Given the description of an element on the screen output the (x, y) to click on. 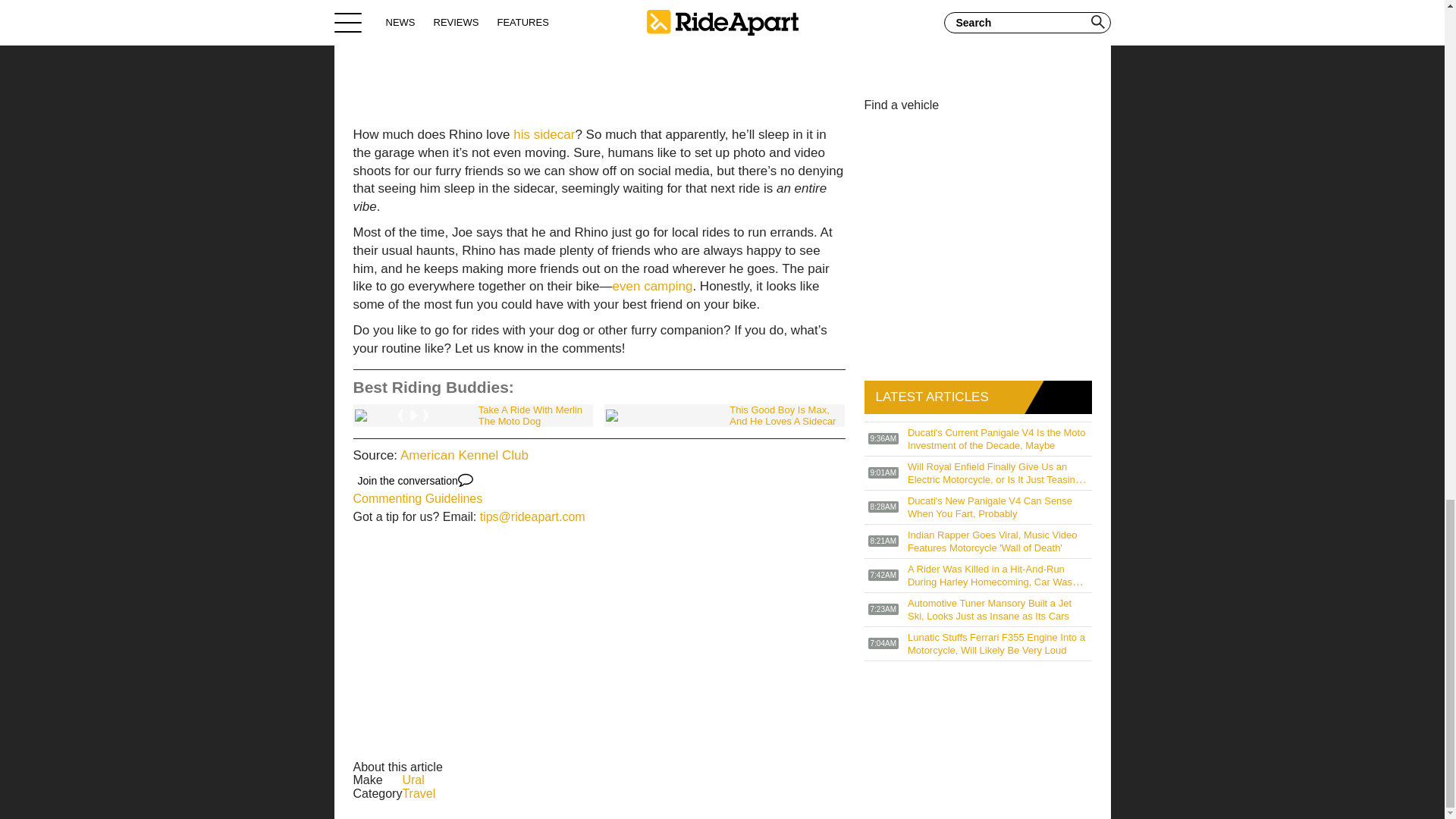
even camping (652, 286)
his sidecar (544, 134)
American Kennel Club (464, 454)
Commenting Guidelines (418, 498)
Take A Ride With Merlin The Moto Dog (473, 415)
Join the conversation (415, 480)
This Good Boy Is Max, And He Loves A Sidecar (724, 415)
